Given the description of an element on the screen output the (x, y) to click on. 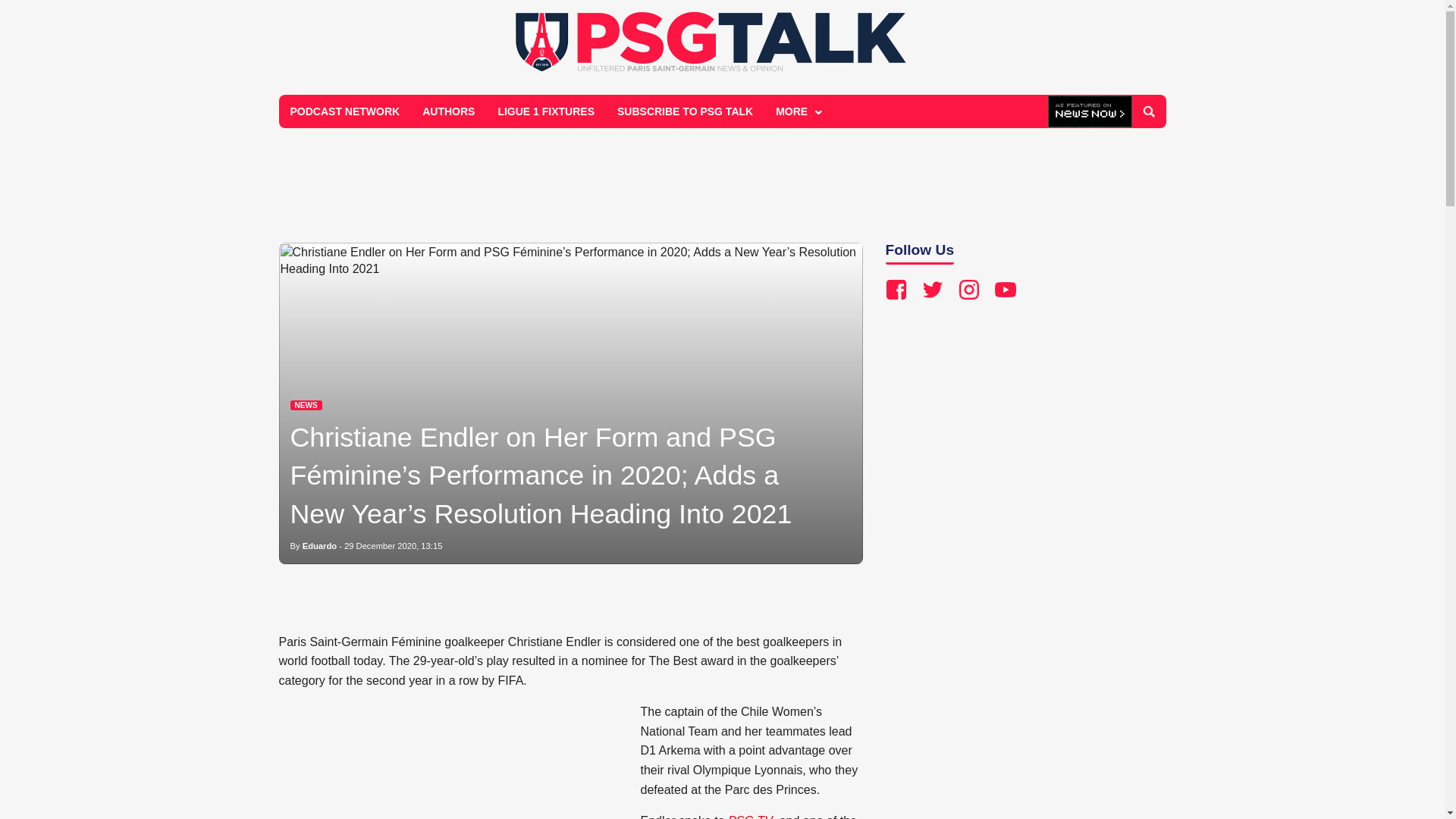
PSG TV (750, 816)
MORE (796, 111)
Latest News News (305, 405)
Click here for more PSG news from NewsNow (1090, 111)
LIGUE 1 FIXTURES (545, 111)
29 December 2020, 13:15 (392, 545)
Eduardo (319, 545)
NEWS (305, 405)
SUBSCRIBE TO PSG TALK (684, 111)
AUTHORS (448, 111)
Search (1147, 111)
PODCAST NETWORK (345, 111)
